Given the description of an element on the screen output the (x, y) to click on. 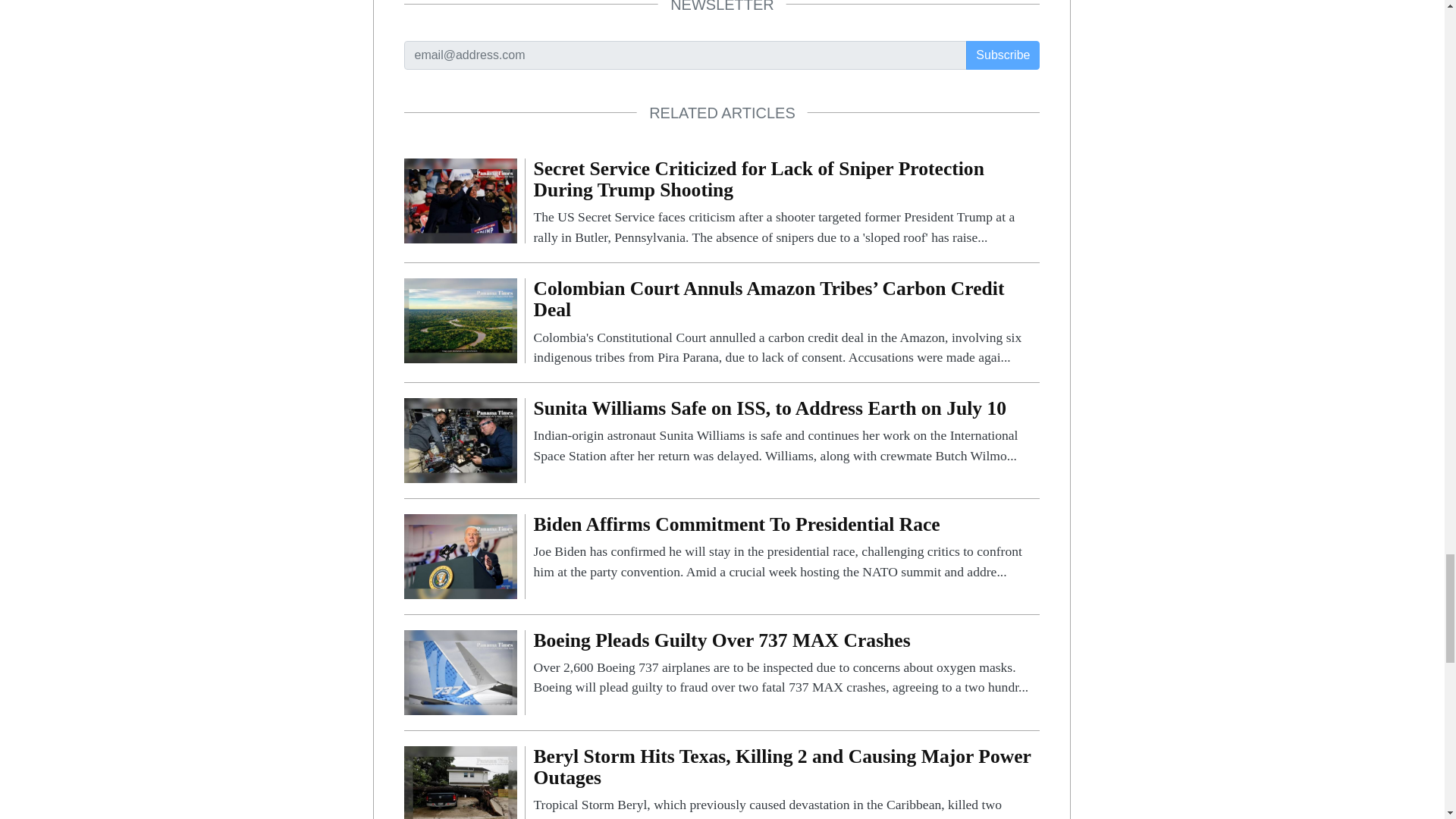
Biden Affirms Commitment To Presidential Race (785, 547)
Biden Affirms Commitment To Presidential Race (460, 554)
Boeing Pleads Guilty Over 737 MAX Crashes (785, 663)
Subscribe (1002, 54)
Sunita Williams Safe on ISS, to Address Earth on July 10 (460, 439)
Sunita Williams Safe on ISS, to Address Earth on July 10 (785, 432)
Boeing Pleads Guilty Over 737 MAX Crashes (460, 671)
